Given the description of an element on the screen output the (x, y) to click on. 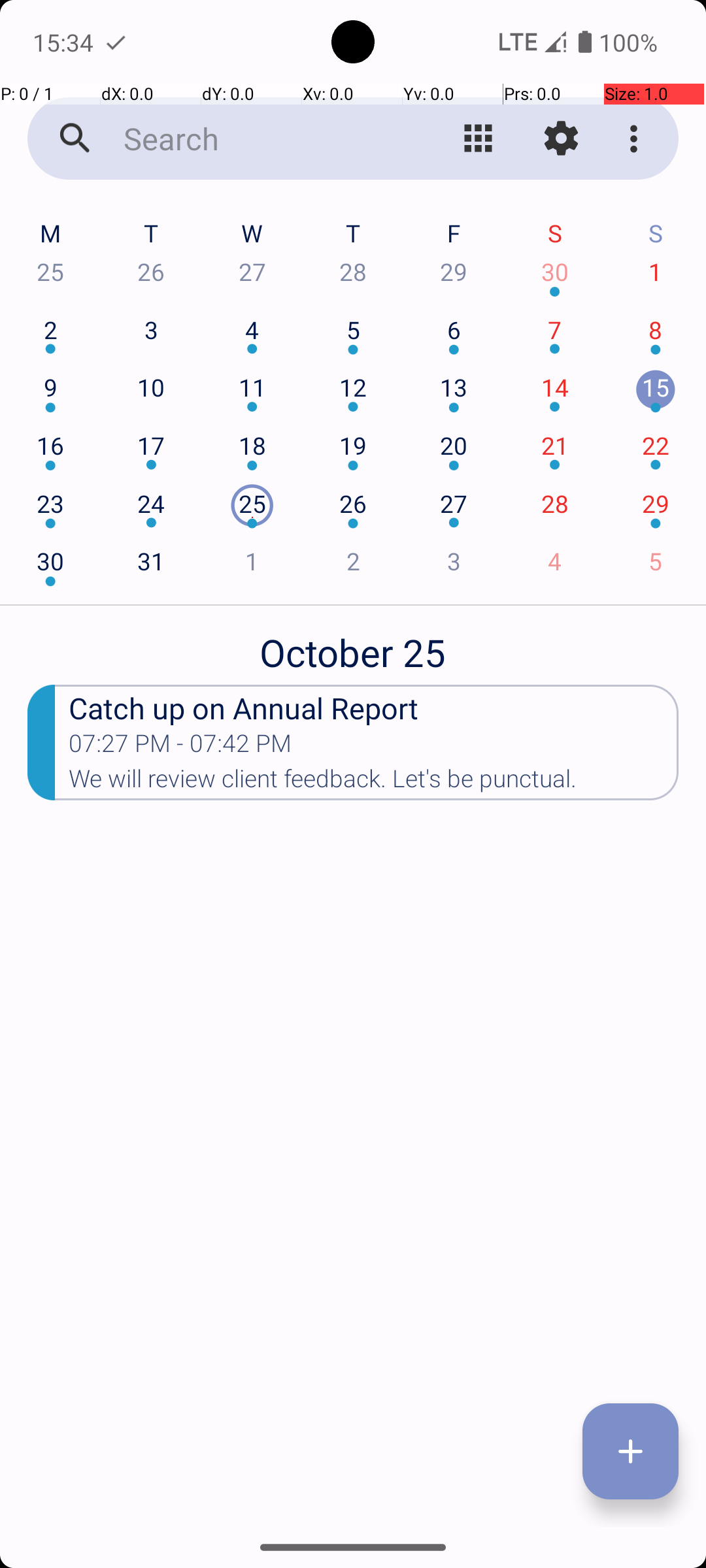
October 25 Element type: android.widget.TextView (352, 644)
07:27 PM - 07:42 PM Element type: android.widget.TextView (179, 747)
We will review client feedback. Let's be punctual. Element type: android.widget.TextView (373, 782)
